Given the description of an element on the screen output the (x, y) to click on. 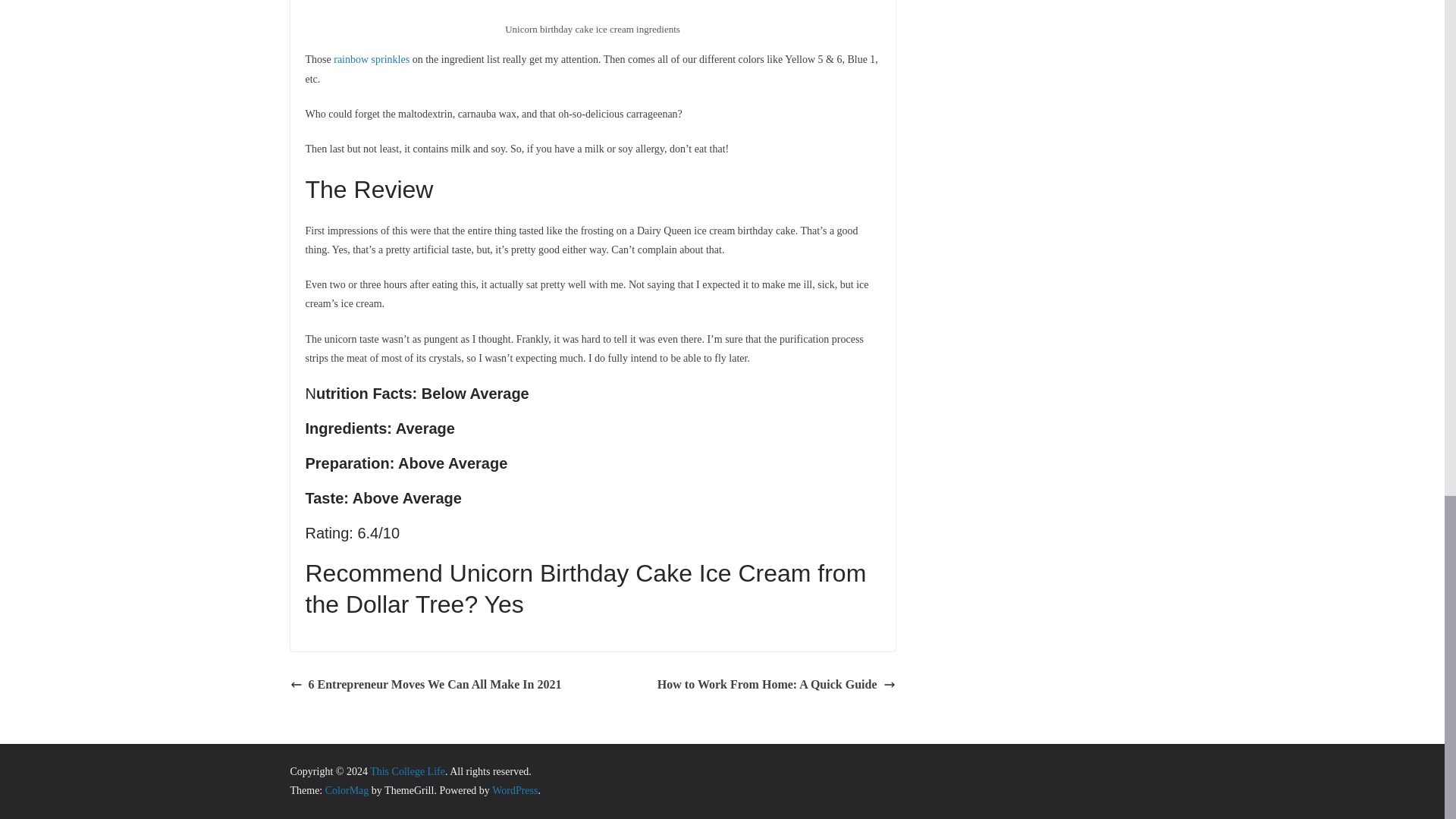
WordPress (514, 790)
ColorMag (346, 790)
This College Life (407, 771)
